Given the description of an element on the screen output the (x, y) to click on. 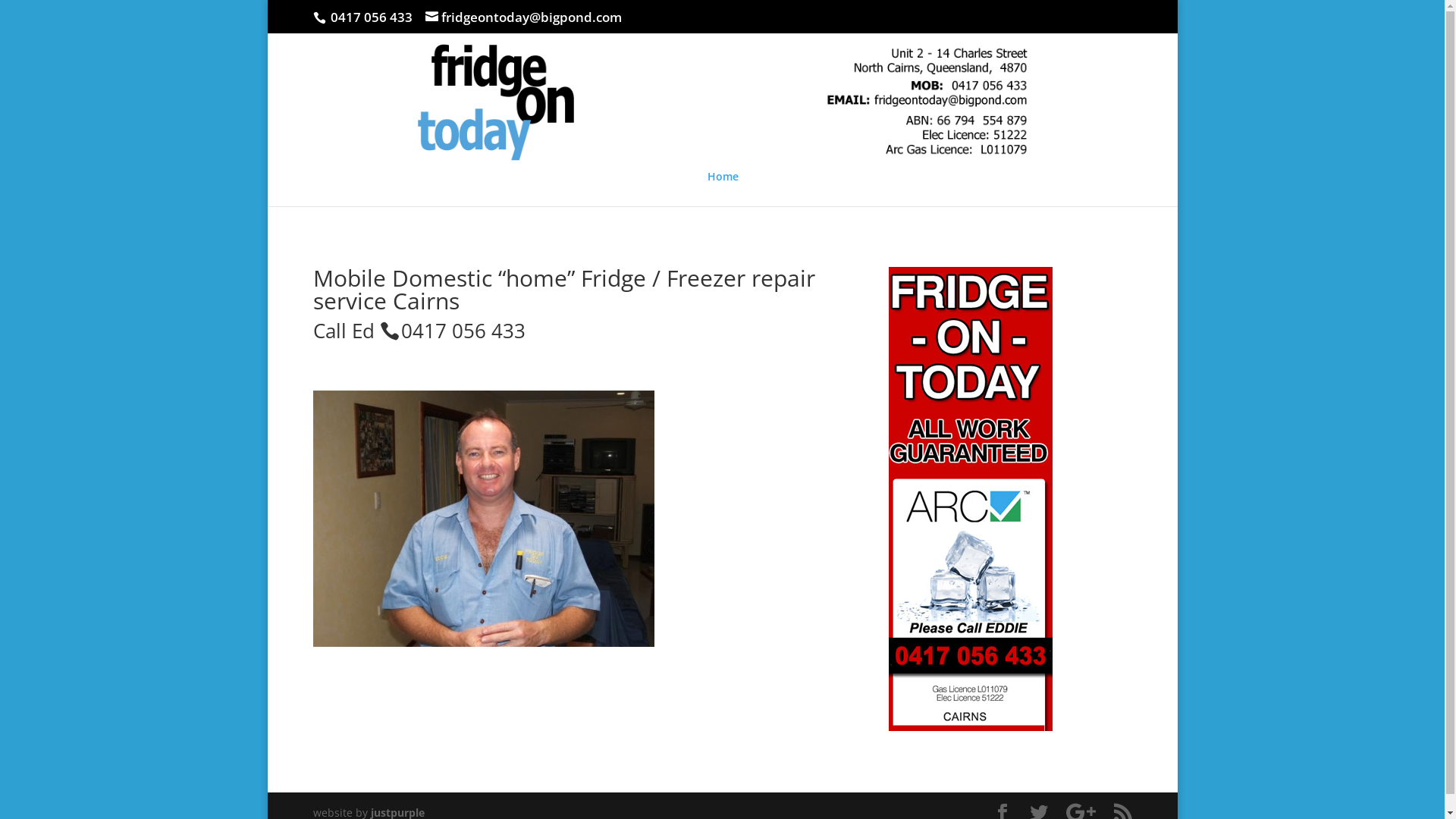
fridgeontoday@bigpond.com Element type: text (522, 16)
Home Element type: text (721, 188)
